Given the description of an element on the screen output the (x, y) to click on. 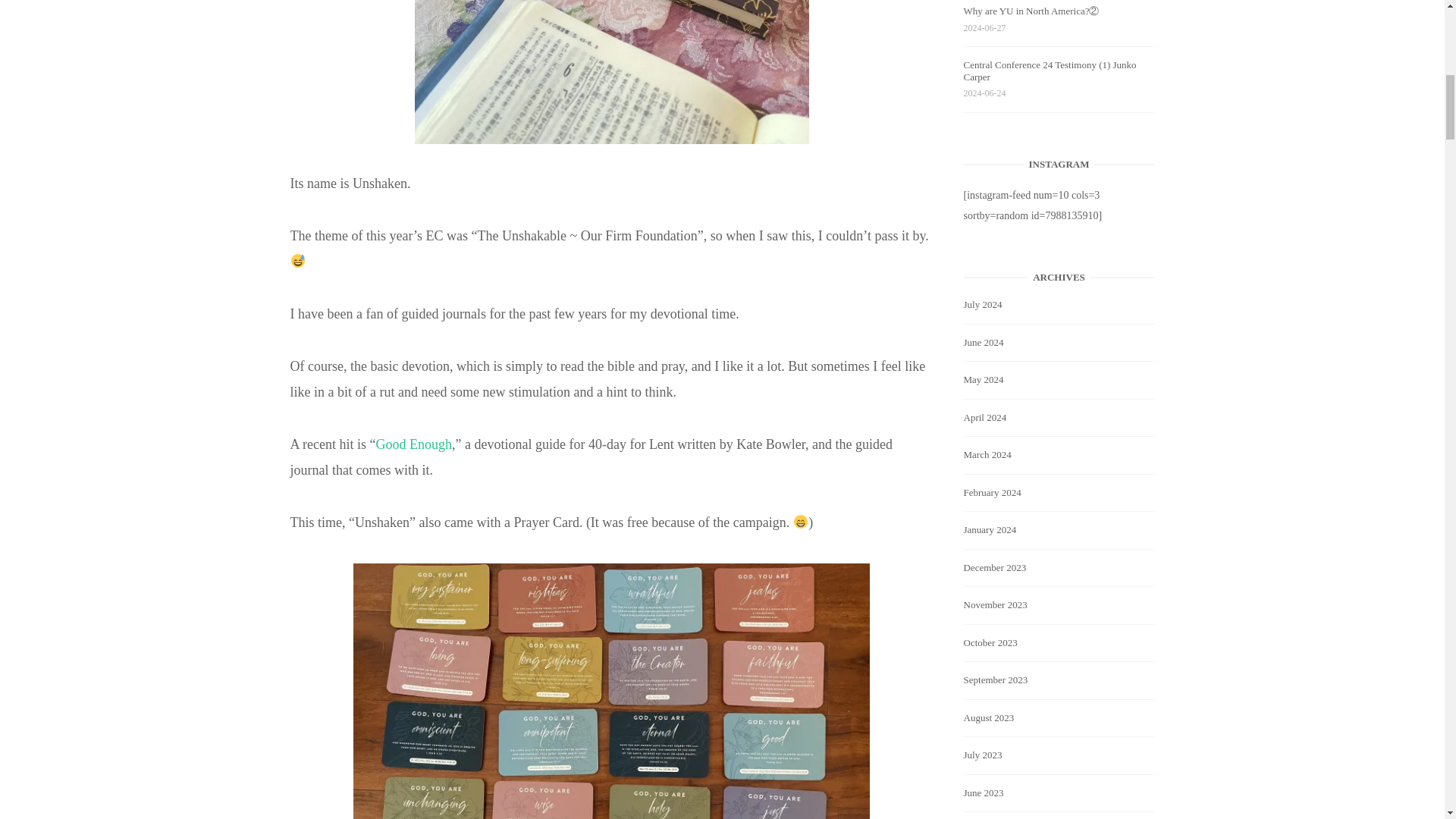
Good Enough (413, 444)
